Given the description of an element on the screen output the (x, y) to click on. 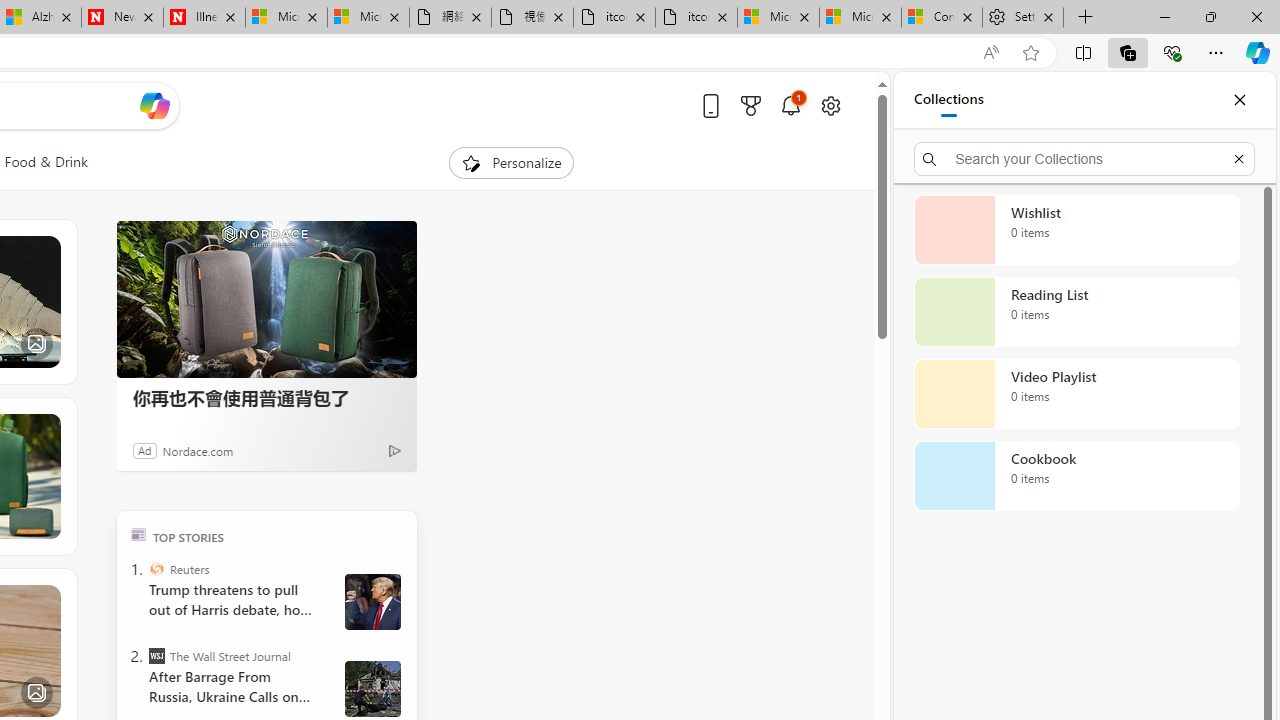
TOP (138, 534)
Reading List collection, 0 items (1076, 312)
Illness news & latest pictures from Newsweek.com (203, 17)
Cookbook collection, 0 items (1076, 475)
Search your Collections (1084, 158)
itconcepthk.com/projector_solutions.mp4 (696, 17)
